Given the description of an element on the screen output the (x, y) to click on. 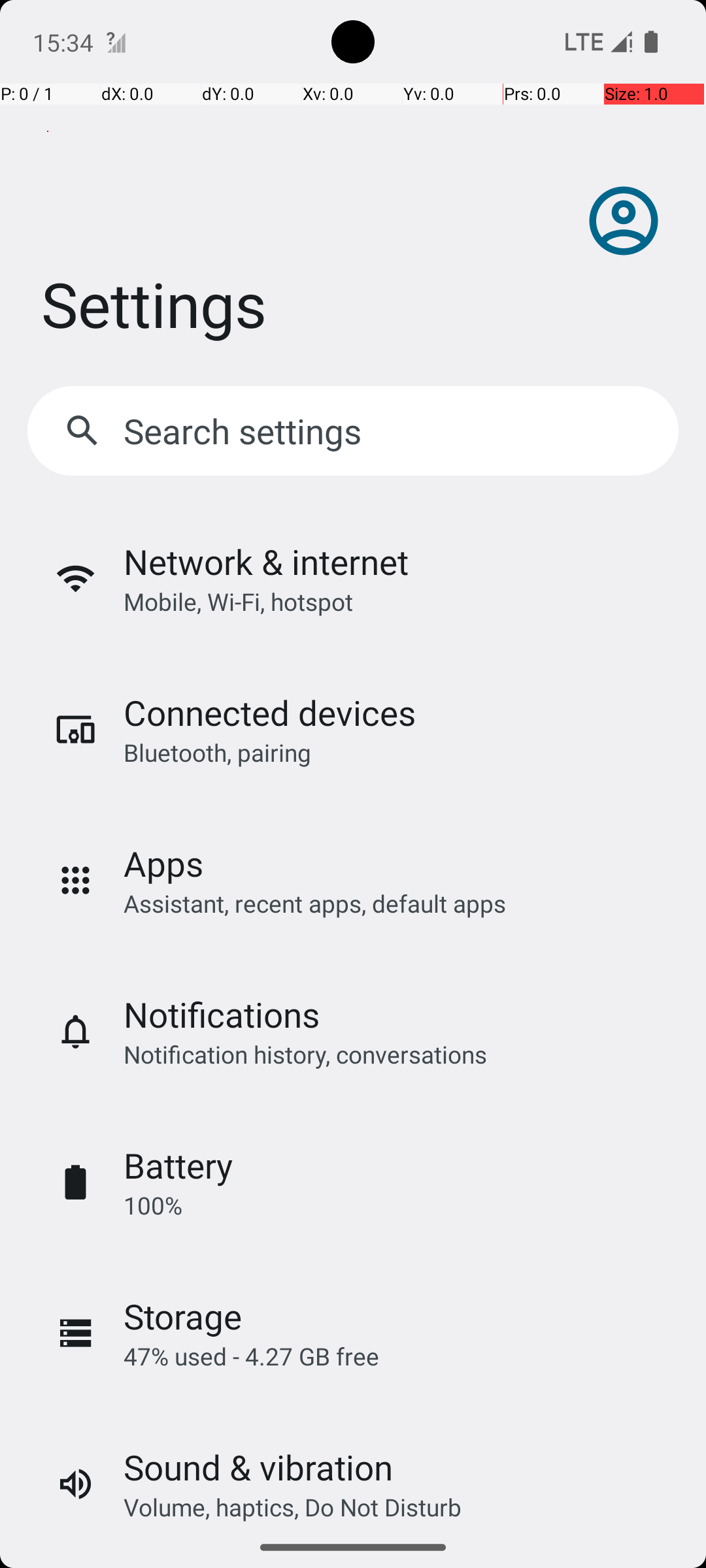
47% used - 4.27 GB free Element type: android.widget.TextView (251, 1355)
